Given the description of an element on the screen output the (x, y) to click on. 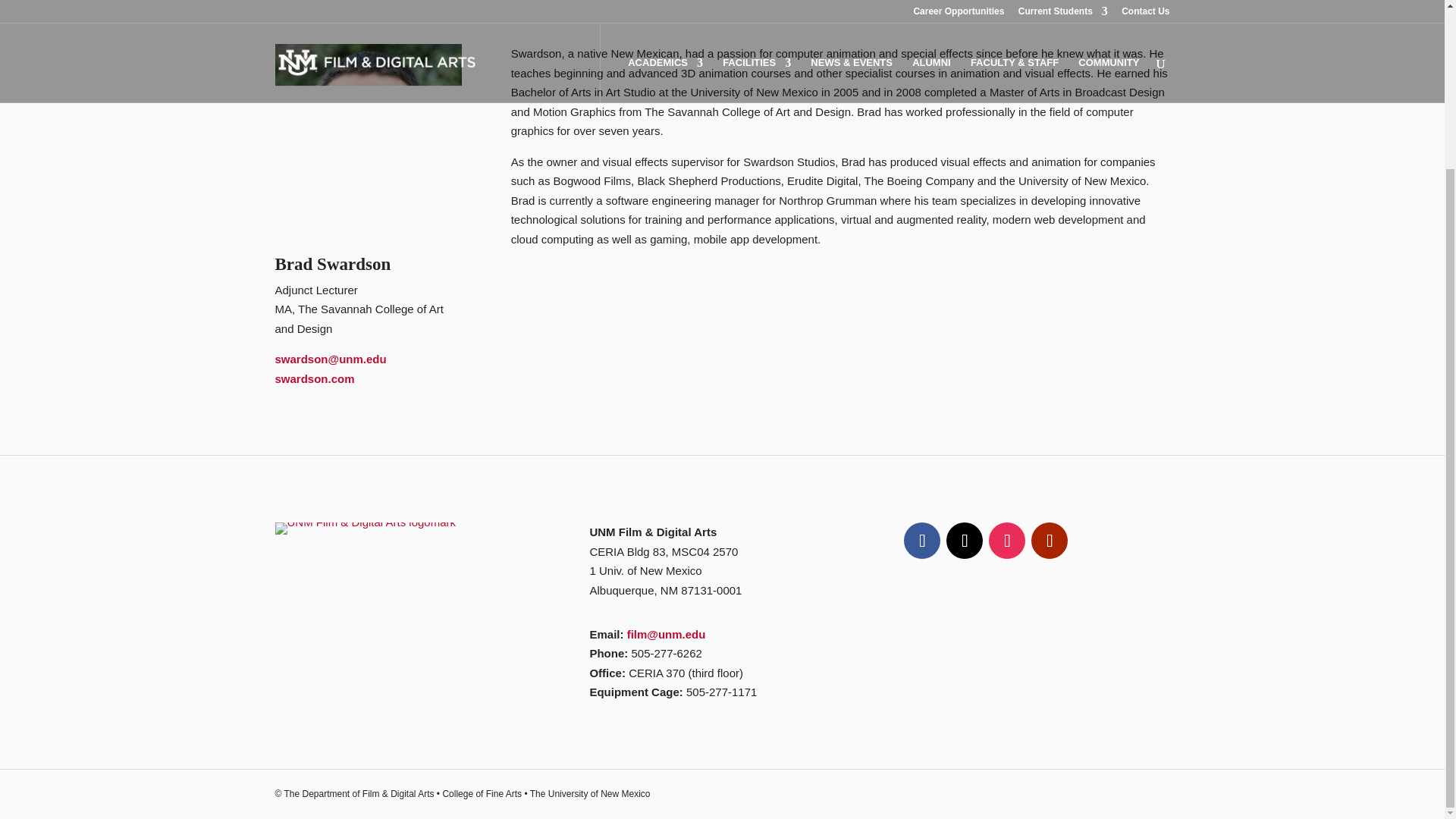
brad-swardson (368, 137)
Follow on Instagram (1006, 540)
Follow on X (964, 540)
Follow on Facebook (922, 540)
unm-film-digital-arts (365, 528)
swardson.com (314, 378)
Follow on Youtube (1048, 540)
